Given the description of an element on the screen output the (x, y) to click on. 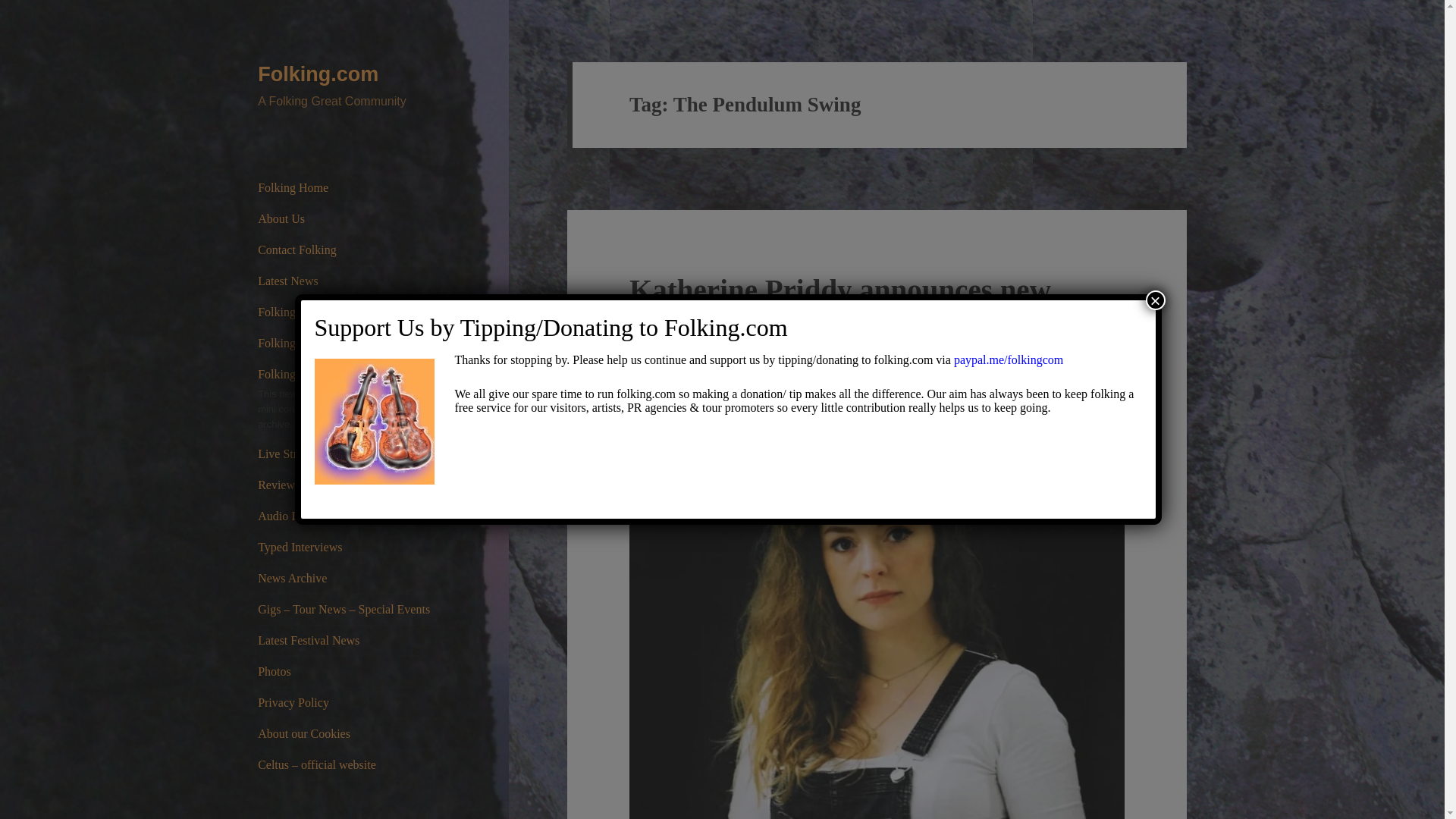
Contact Folking (350, 250)
Typed Interviews (350, 547)
Audio Interviews (350, 516)
Latest Festival News (350, 640)
Photos (350, 671)
Reviews (350, 485)
About our Cookies (350, 734)
Privacy Policy (350, 702)
News Archive (350, 578)
Folking Awards (350, 312)
Latest News (350, 281)
Folking Social Media Feeds (350, 343)
About Us (350, 218)
Live Streams (350, 453)
Folking Home (350, 187)
